Given the description of an element on the screen output the (x, y) to click on. 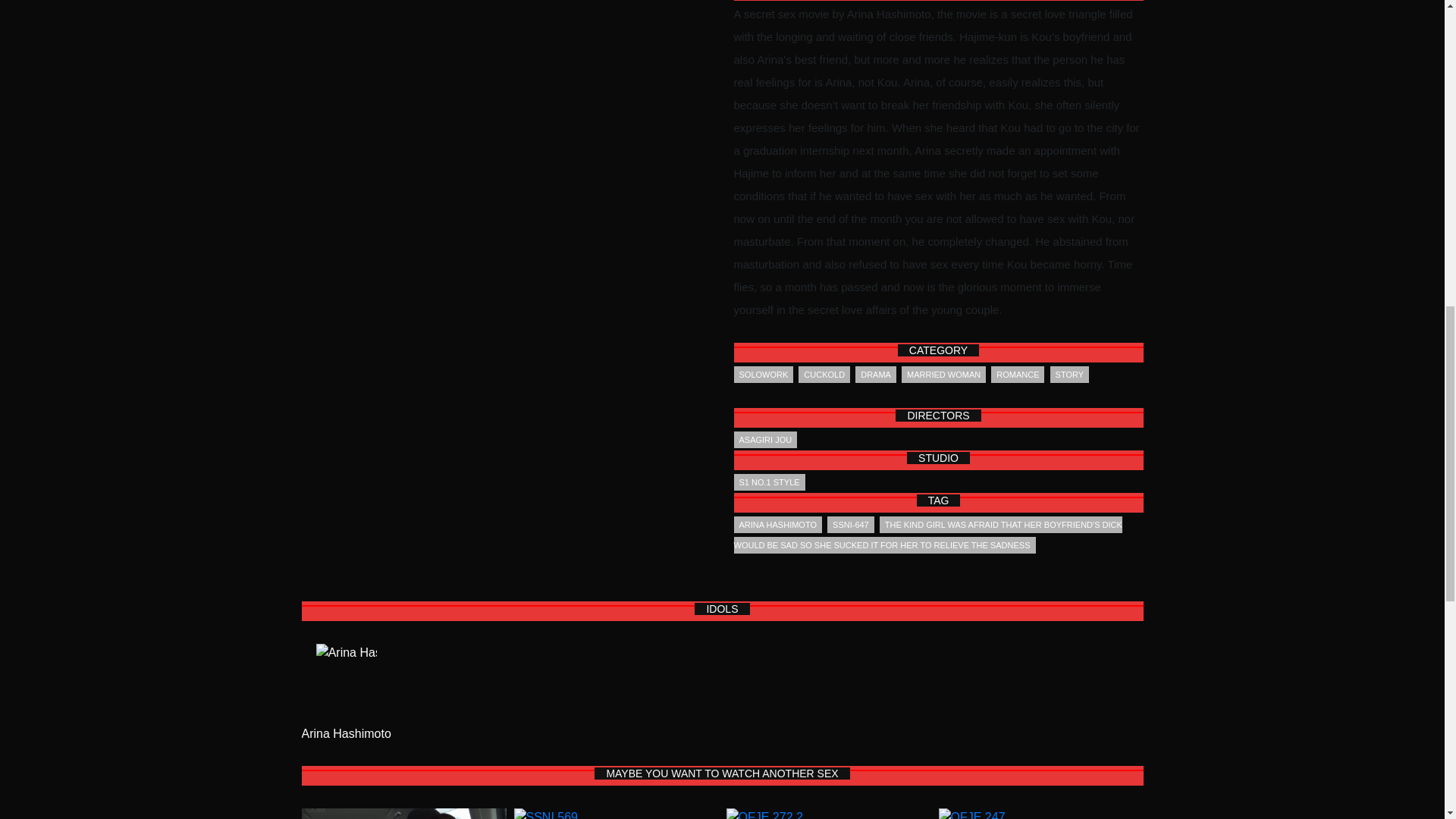
MARRIED WOMAN (943, 374)
CUCKOLD (823, 374)
Arina Hashimoto (346, 683)
ARINA HASHIMOTO (777, 524)
SOLOWORK (763, 374)
Arina Hashimoto (346, 733)
DRAMA (876, 374)
S1 NO.1 STYLE (769, 482)
STORY (1069, 374)
ASAGIRI JOU (765, 439)
